Given the description of an element on the screen output the (x, y) to click on. 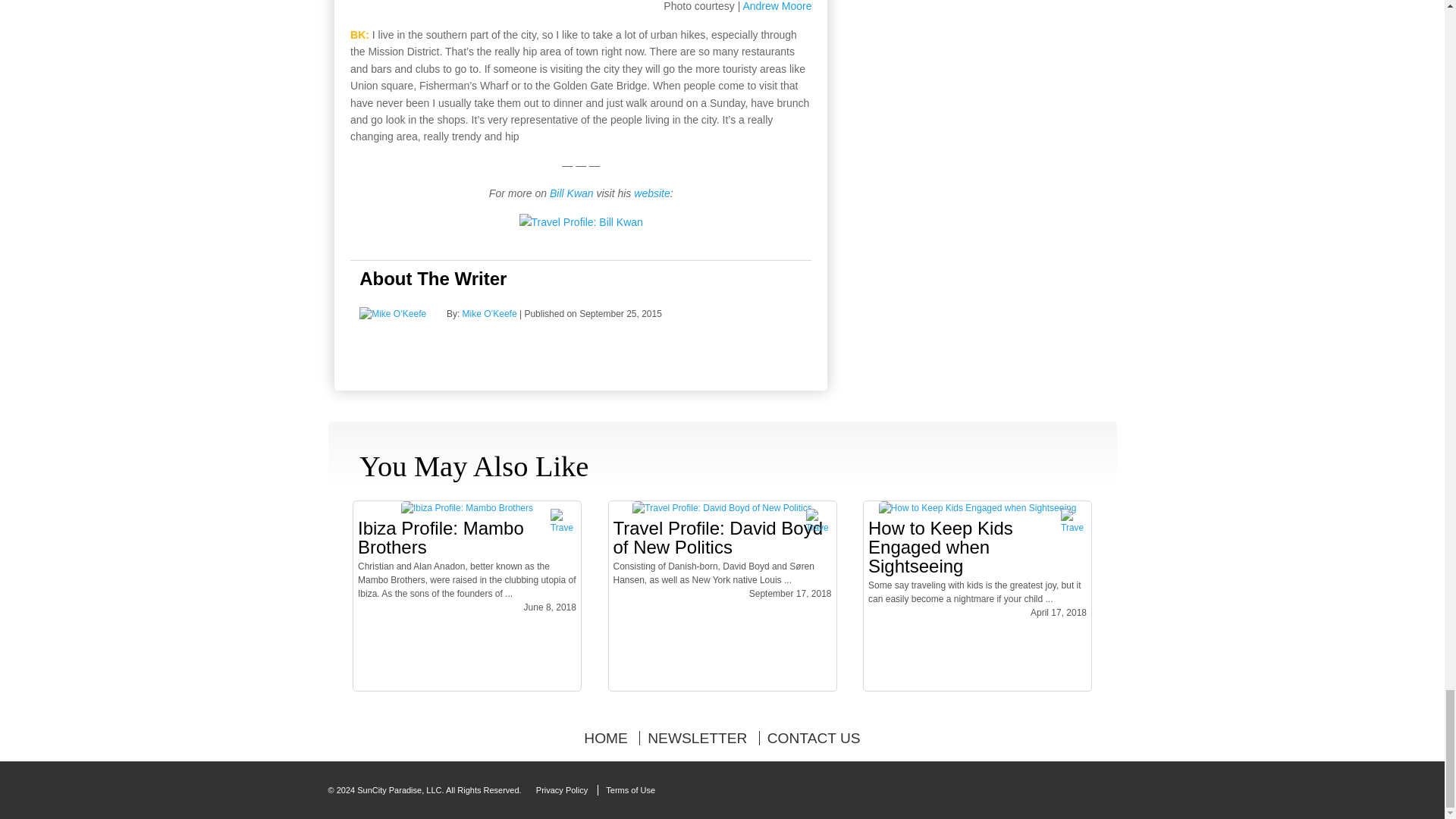
Ibiza Profile: Mambo Brothers (466, 507)
